Given the description of an element on the screen output the (x, y) to click on. 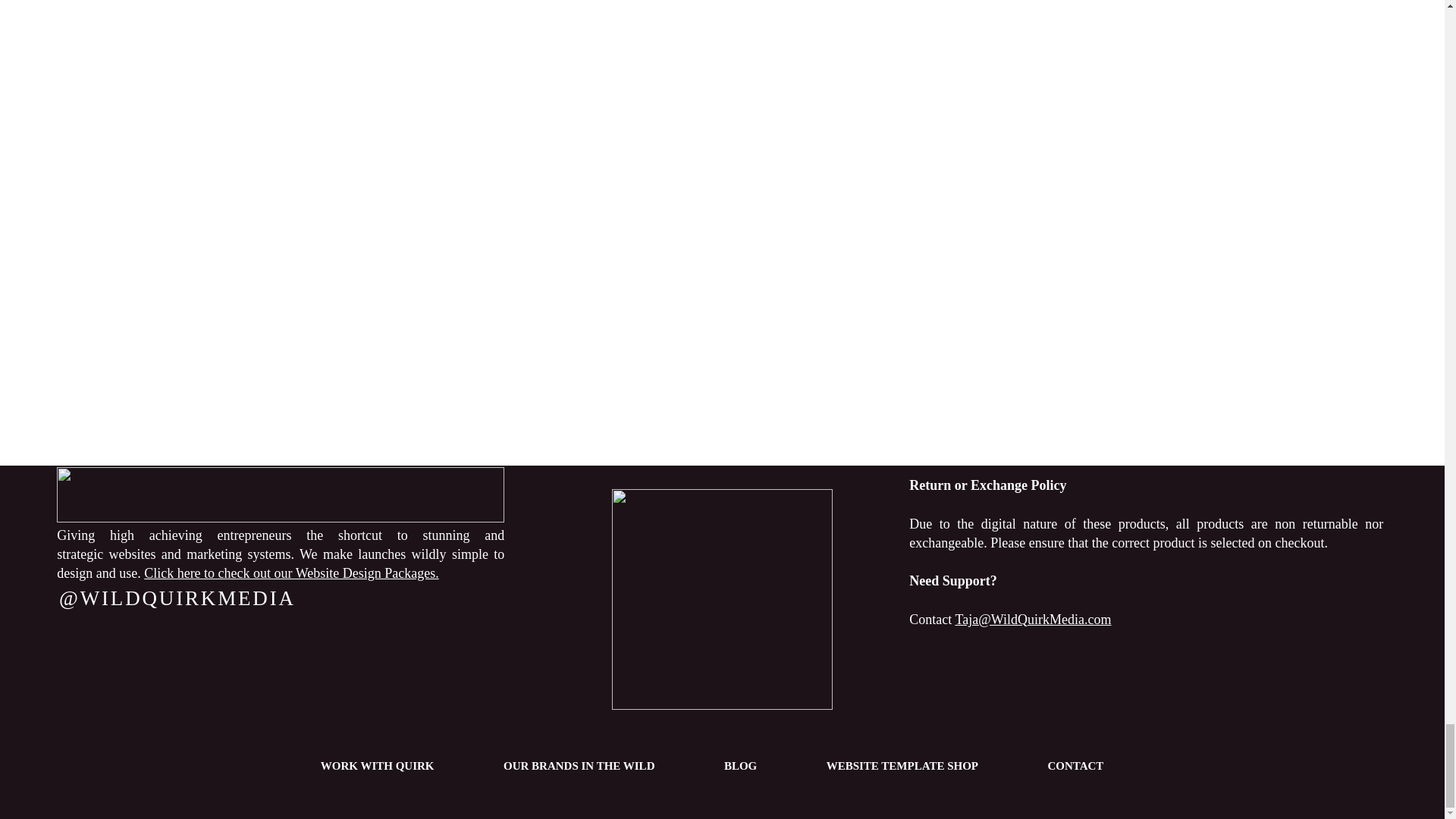
Click here to check out our Website Design Packages. (291, 572)
BLOG (741, 766)
WORK WITH QUIRK (376, 766)
CONTACT (1075, 766)
OUR BRANDS IN THE WILD (578, 766)
WEBSITE TEMPLATE SHOP (902, 766)
